Given the description of an element on the screen output the (x, y) to click on. 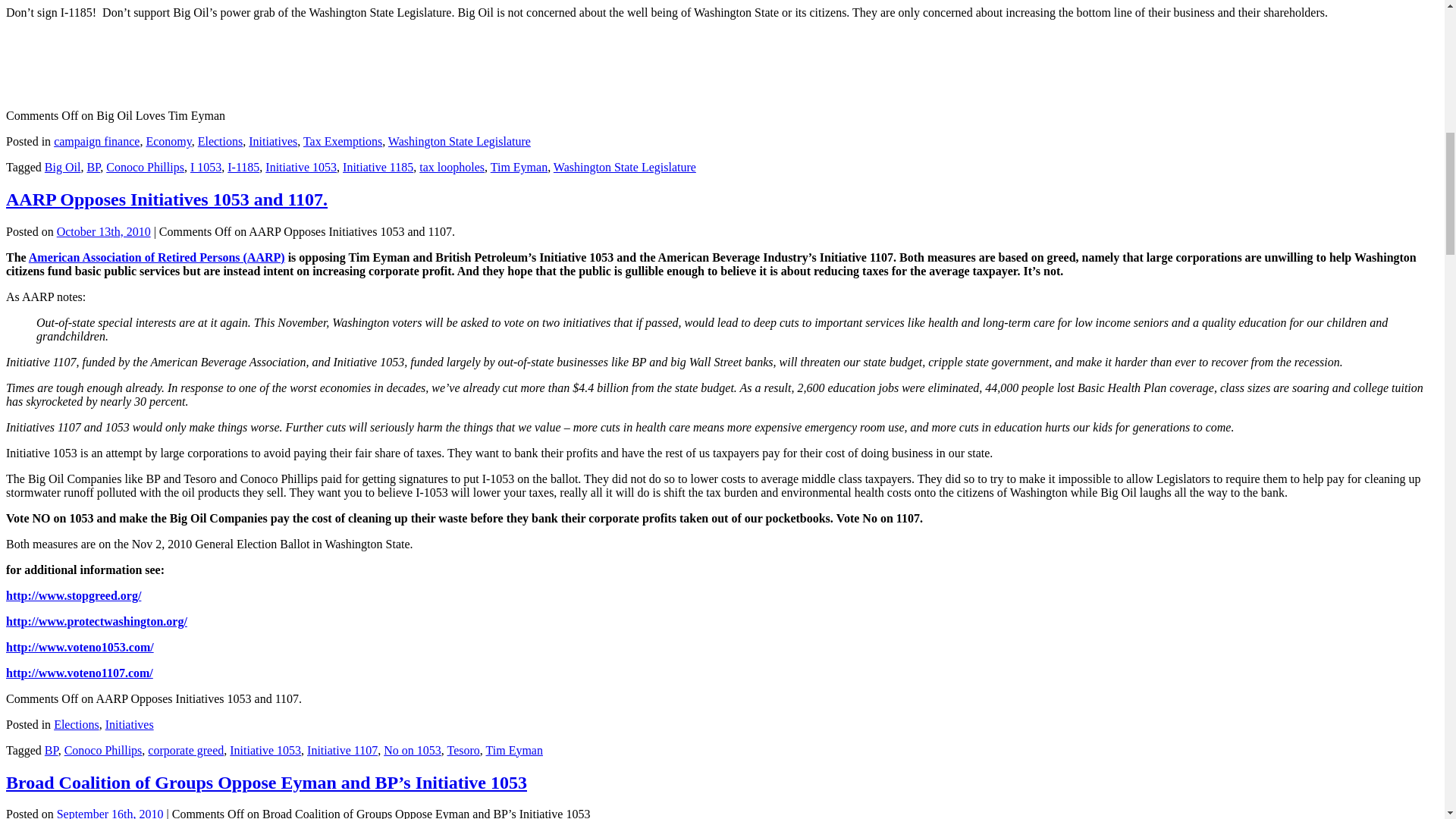
Economy (167, 141)
AARP Opposes Initiatives 1053 and 1107. (166, 199)
Washington State Legislature (459, 141)
I 1053 (205, 166)
Initiative 1185 (377, 166)
Big Oil (63, 166)
BP (92, 166)
Conoco Phillips (145, 166)
campaign finance (96, 141)
I-1185 (243, 166)
Washington State Legislature (624, 166)
October 13th, 2010 (103, 231)
Tim Eyman (518, 166)
5:43 PM (103, 231)
9:39 PM (109, 813)
